Given the description of an element on the screen output the (x, y) to click on. 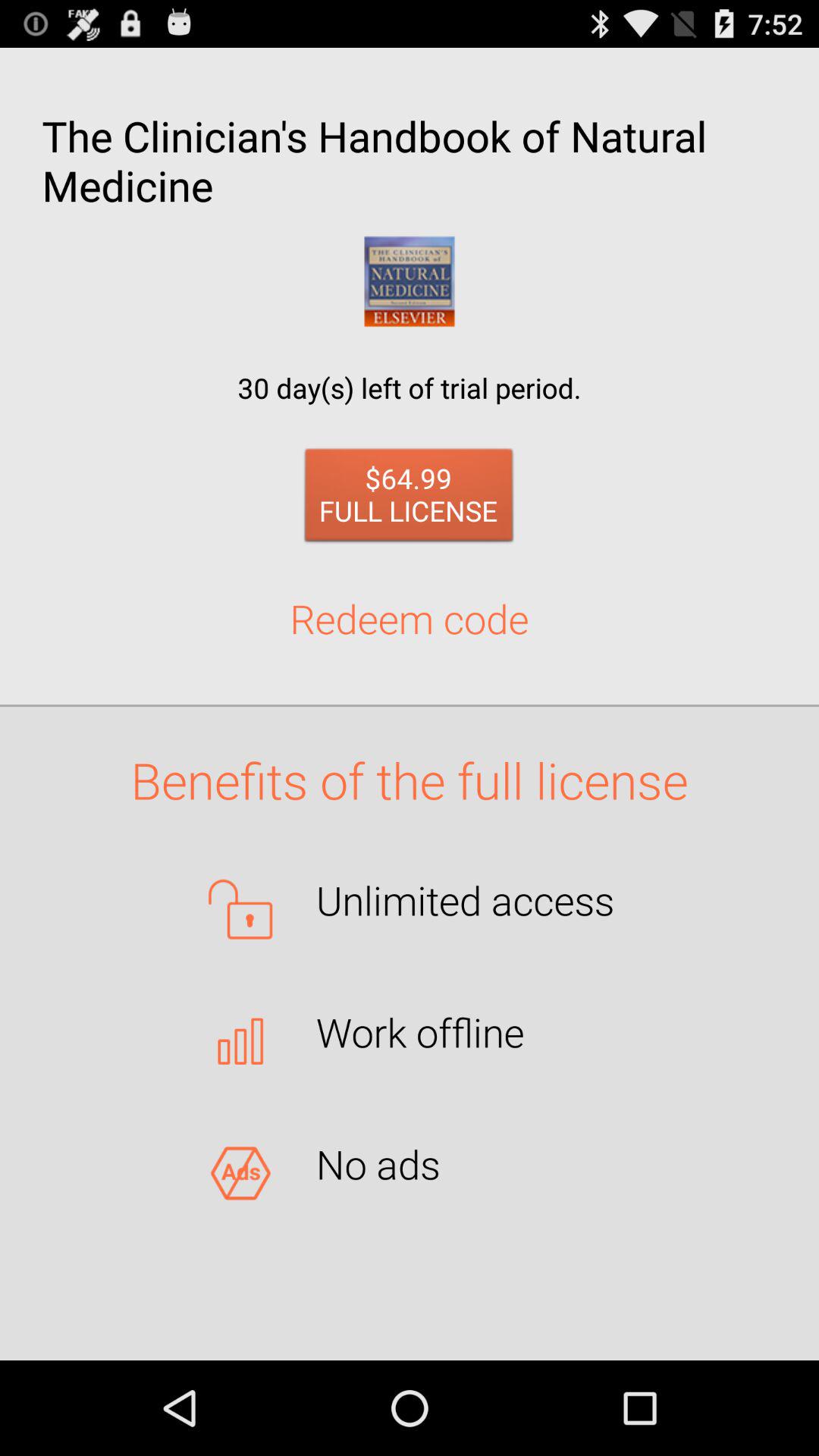
jump until redeem code (409, 618)
